Given the description of an element on the screen output the (x, y) to click on. 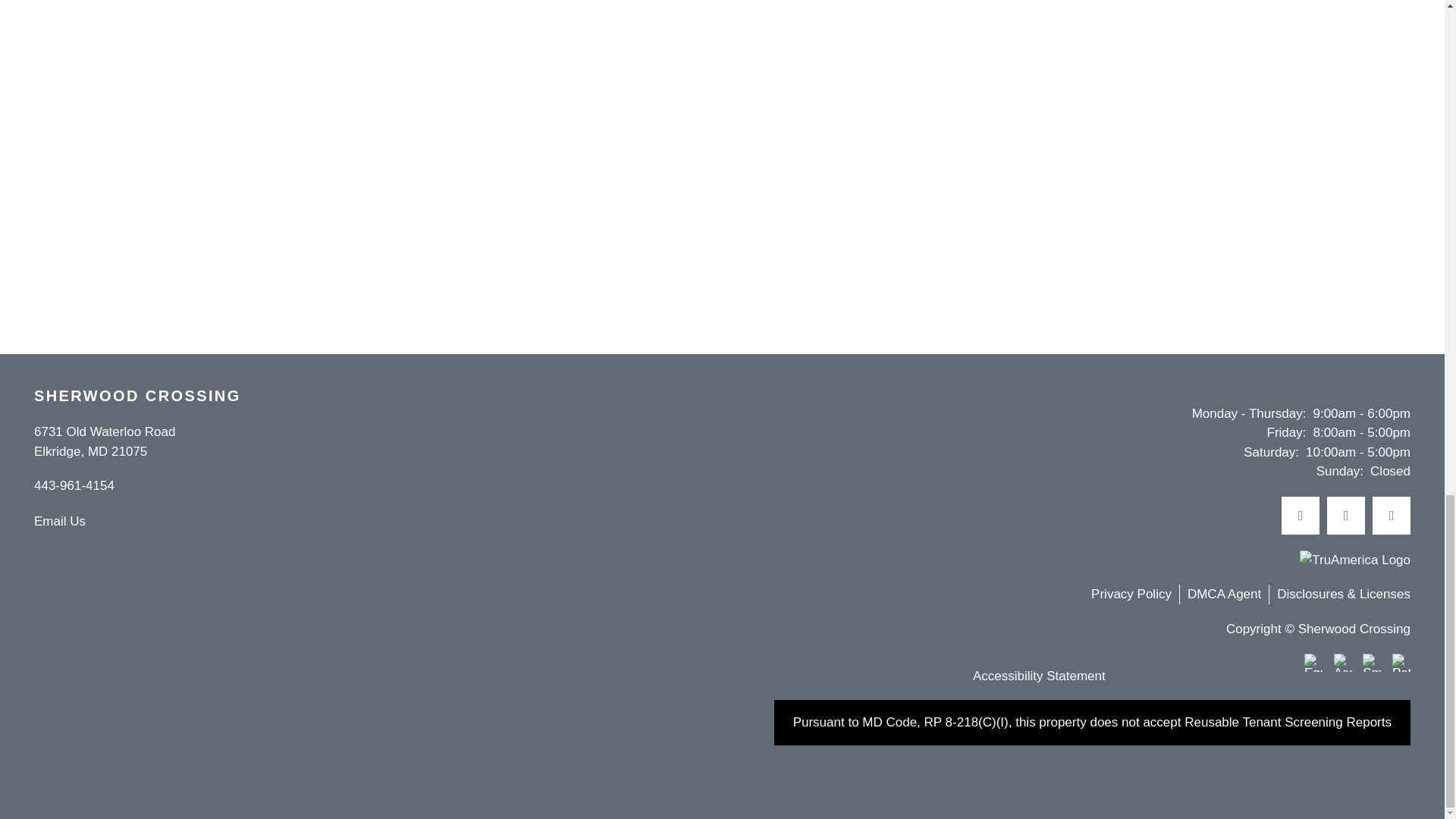
Facebook (1300, 515)
Privacy Policy (1134, 594)
Google My Business (1391, 515)
DMCA Agent (1228, 594)
Greystar DMCA Policy (1224, 594)
Email Us (59, 521)
Pet Friendly (103, 441)
443-961-4154 (1400, 662)
Accessible Community and Greystar Fair Housing Statement (74, 487)
Instagram (1342, 662)
Non-Smoking (1345, 515)
Property Phone Number (1371, 662)
Accessibility Statement (74, 487)
